Given the description of an element on the screen output the (x, y) to click on. 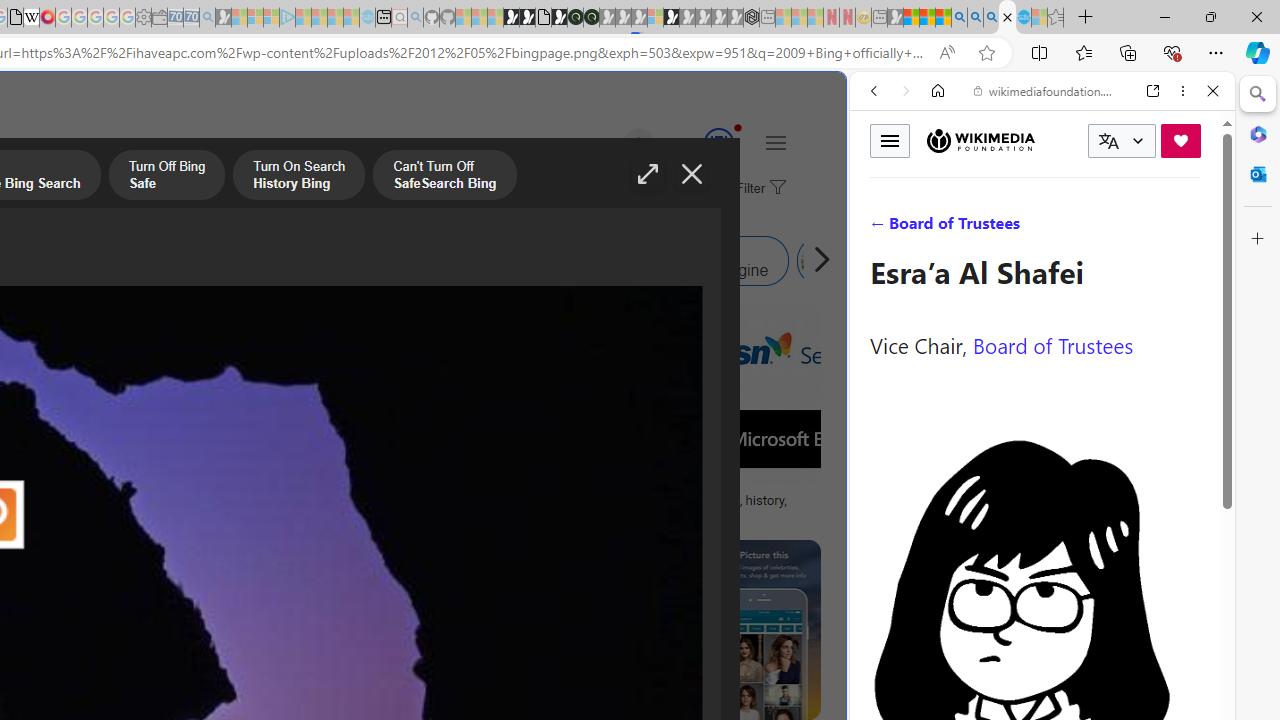
Tabs you've opened (276, 265)
Web scope (882, 180)
Wikimedia Foundation (980, 141)
Bing Logo, symbol, meaning, history, PNG, brand (695, 508)
Frequently visited (418, 265)
Home | Sky Blue Bikes - Sky Blue Bikes - Sleeping (367, 17)
Preferences (1189, 228)
